Given the description of an element on the screen output the (x, y) to click on. 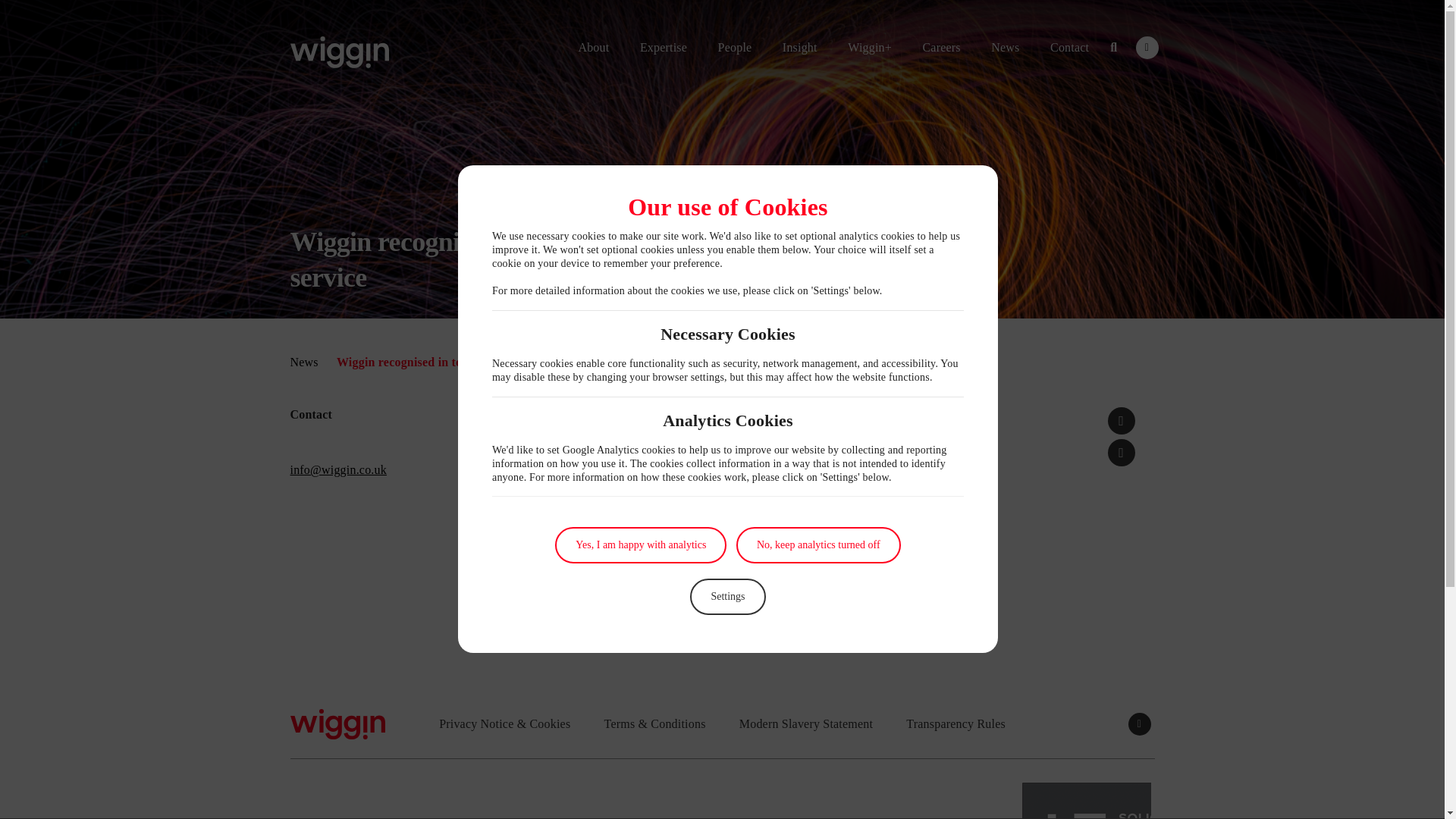
Email address for general enquiries (337, 469)
Expertise (662, 47)
Settings (727, 596)
About (593, 47)
Social Media Link (1146, 47)
Wiggin Logo Header (338, 51)
displaying-external-site-cert (1086, 800)
Insight (799, 47)
Careers (941, 47)
Wiggin recognised in top 20 firms for client service (1121, 420)
People (734, 47)
Wiggin recognised in top 20 firms for client service (1121, 452)
Search (1112, 47)
Social Media Link (1139, 723)
